Given the description of an element on the screen output the (x, y) to click on. 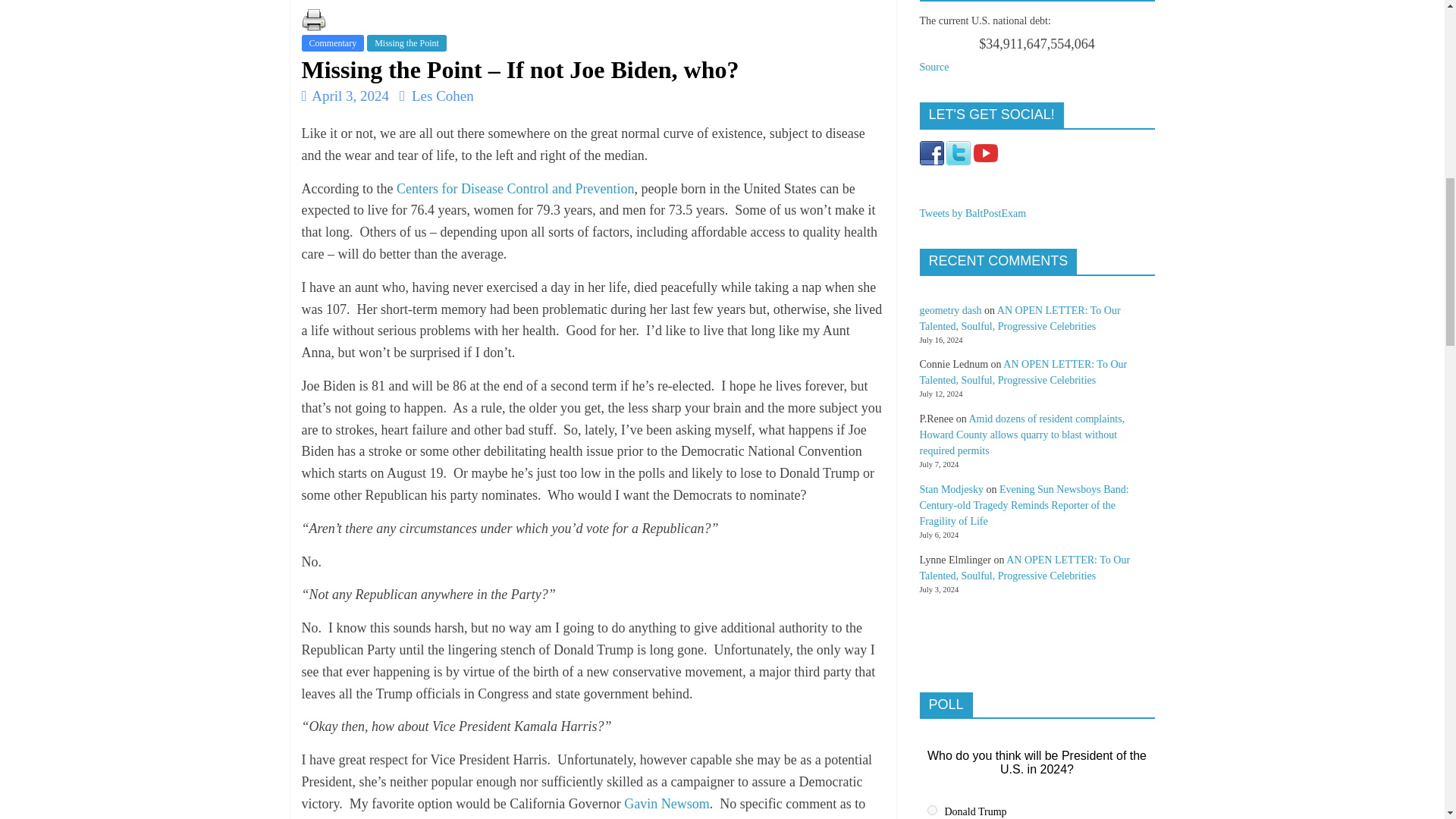
Les Cohen (443, 95)
Les Cohen (443, 95)
1 (931, 809)
Centers for Disease Control and Prevention (514, 188)
Missing the Point (406, 43)
April 3, 2024 (345, 95)
Commentary (333, 43)
Gavin Newsom (666, 803)
9:43 AM (345, 95)
